Given the description of an element on the screen output the (x, y) to click on. 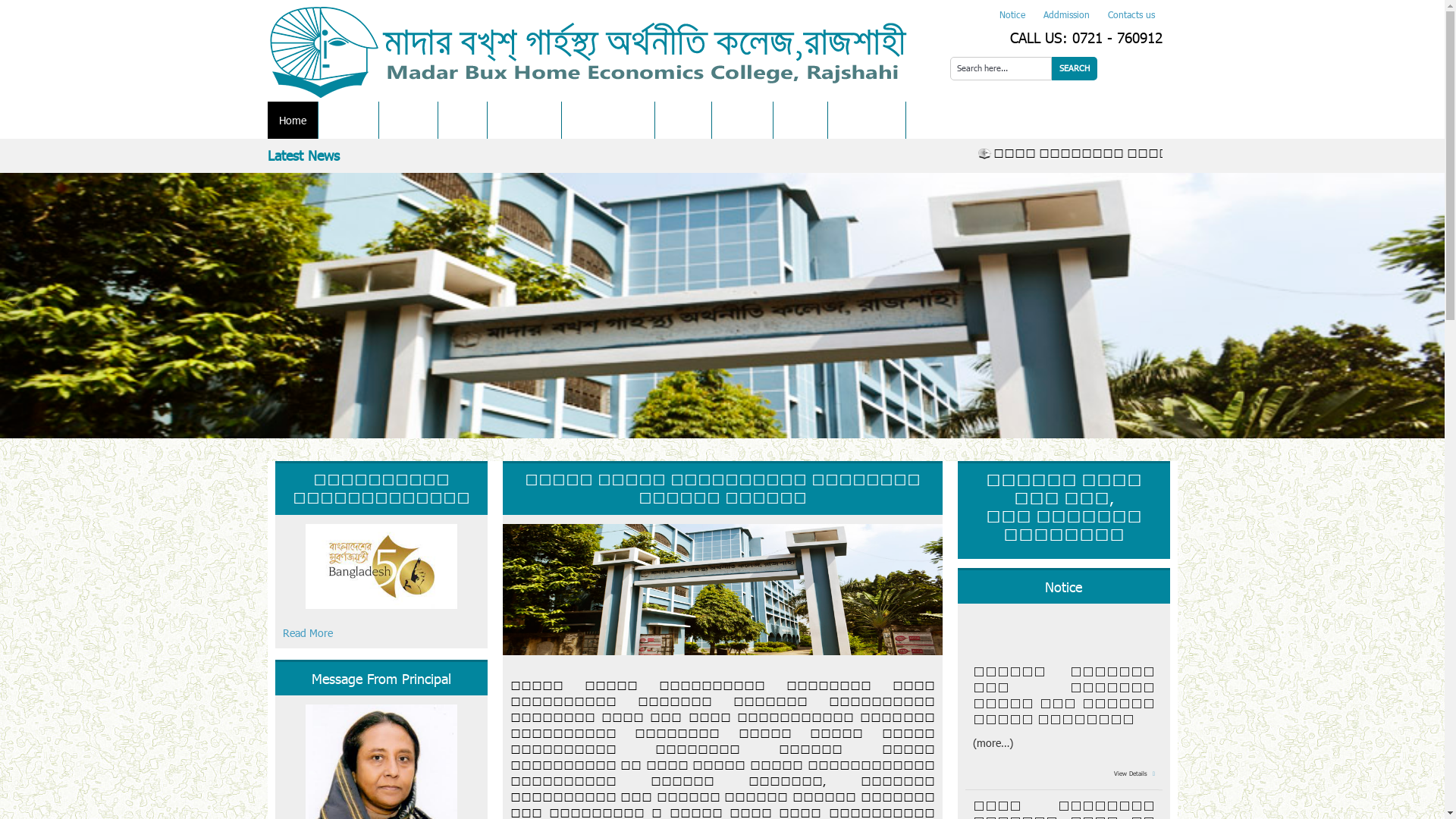
Notice Element type: text (1011, 14)
Gallery Element type: text (800, 119)
Next Element type: text (1425, 303)
Home Element type: text (291, 119)
Search Element type: text (1073, 68)
Staffs Element type: text (462, 119)
About Element type: text (348, 119)
Contacts Us Element type: text (866, 119)
Departments Element type: text (607, 119)
Addmission Element type: text (1066, 14)
Notices Element type: text (683, 119)
View Details Element type: text (1131, 788)
Result Element type: text (742, 119)
Contacts us Element type: text (1126, 14)
Students Element type: text (524, 119)
Previous Element type: text (18, 303)
Teacher Element type: text (408, 119)
Read More Element type: text (380, 581)
